Given the description of an element on the screen output the (x, y) to click on. 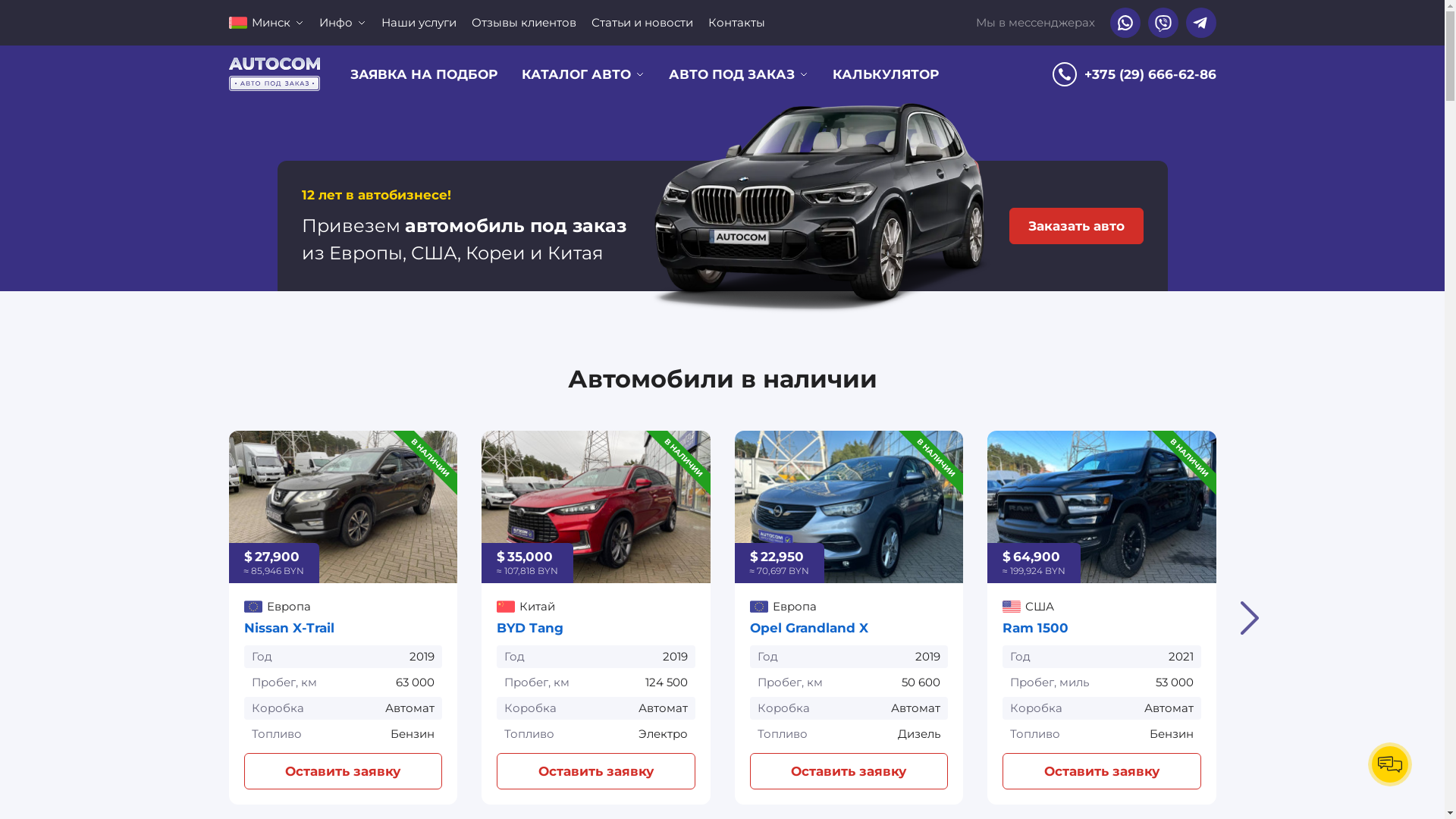
+375 (29) 666-62-86 Element type: text (1134, 74)
Opel Grandland X Element type: text (808, 627)
Ram 1500 Element type: text (1035, 627)
Nissan X-Trail Element type: hover (343, 506)
BYD Tang Element type: hover (595, 506)
Nissan X-Trail Element type: text (289, 627)
Opel Grandland X Element type: hover (848, 506)
BYD Tang Element type: text (529, 627)
Ram 1500 Element type: hover (1101, 506)
